Given the description of an element on the screen output the (x, y) to click on. 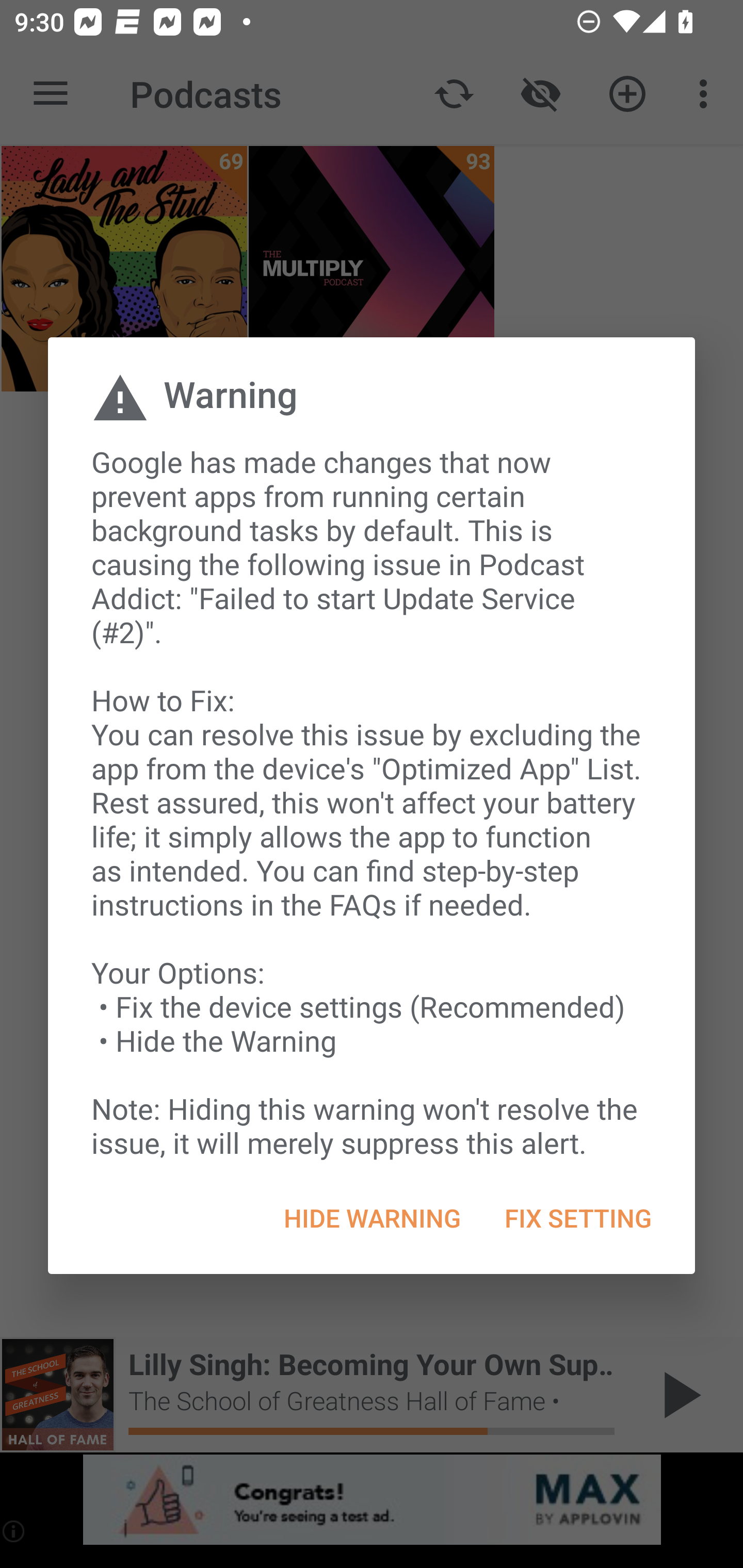
HIDE WARNING (372, 1217)
FIX SETTING (577, 1217)
